Given the description of an element on the screen output the (x, y) to click on. 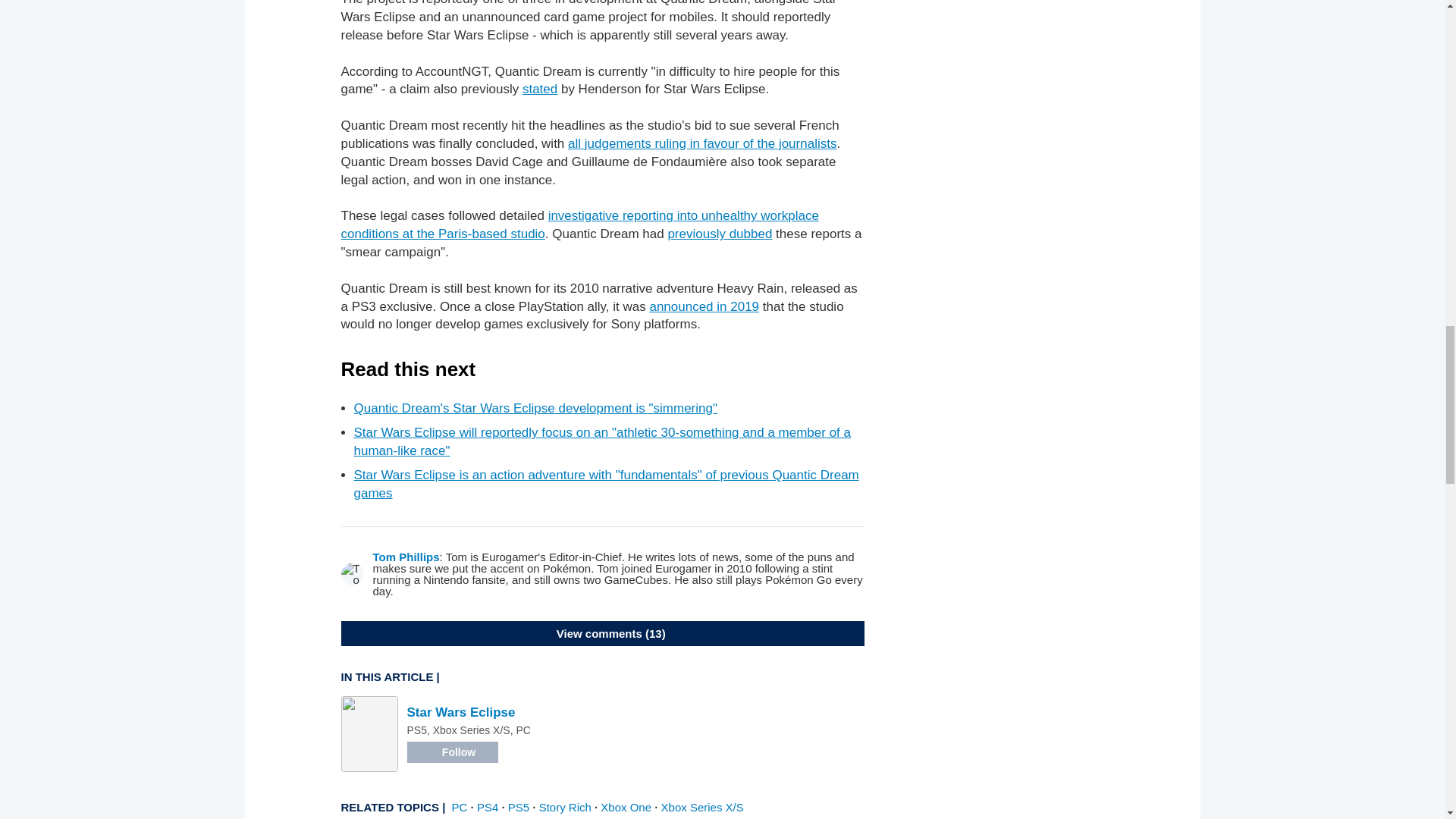
stated (539, 88)
all judgements ruling in favour of the journalists (701, 143)
previously dubbed (718, 233)
